Given the description of an element on the screen output the (x, y) to click on. 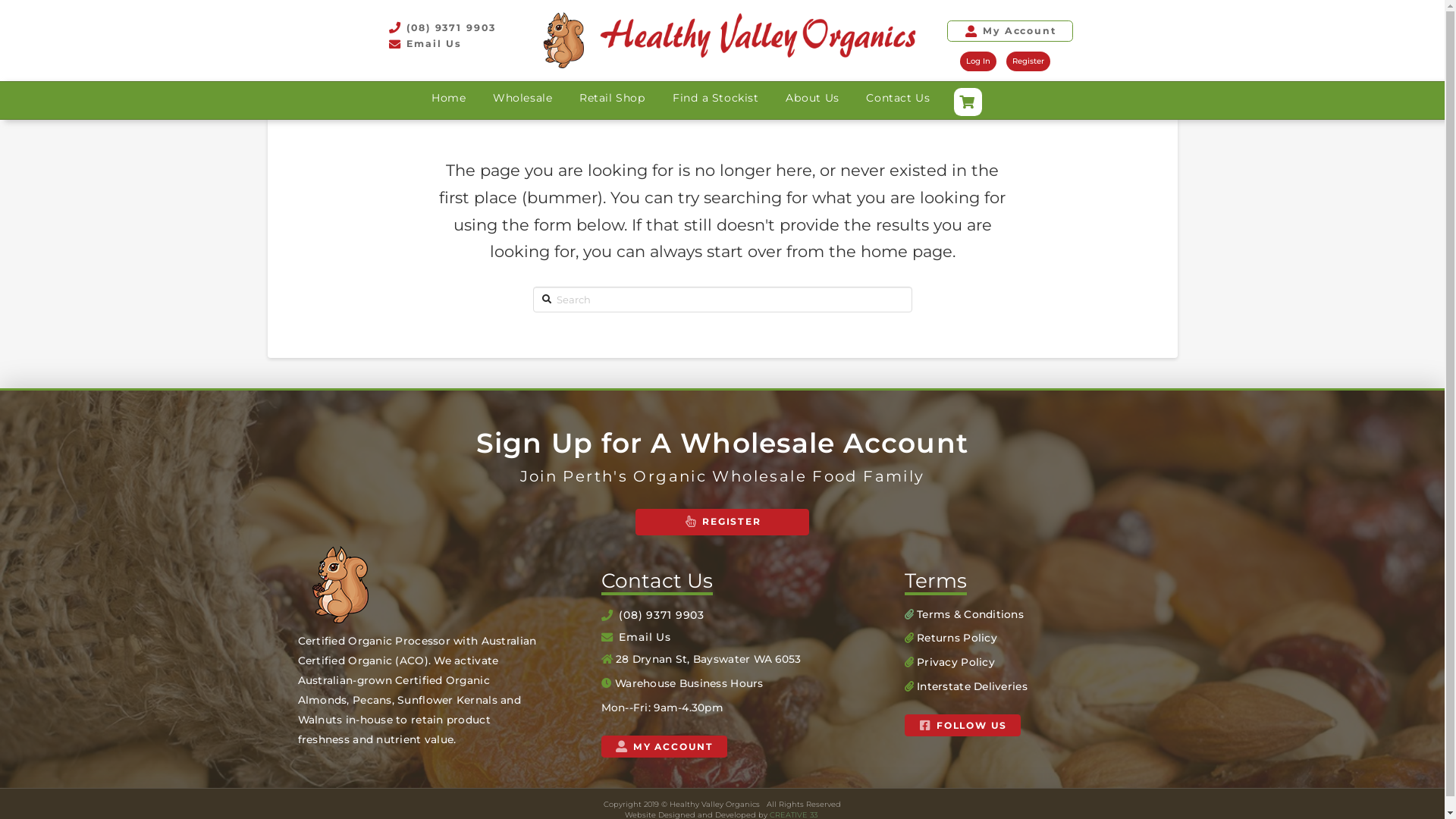
FOLLOW US Element type: text (961, 725)
Interstate Deliveries Element type: text (971, 686)
(08) 9371 9903 Element type: text (441, 28)
Retail Shop Element type: text (611, 98)
(08) 9371 9903 Element type: text (652, 614)
Terms & Conditions Element type: text (969, 614)
Log In Element type: text (978, 61)
Email Us Element type: text (441, 44)
Find a Stockist Element type: text (714, 98)
Email Us Element type: text (635, 636)
About Us Element type: text (811, 98)
Returns Policy Element type: text (956, 637)
Privacy Policy Element type: text (955, 661)
Wholesale Element type: text (522, 98)
Contact Us Element type: text (897, 98)
REGISTER Element type: text (722, 521)
Register Element type: text (1028, 61)
MY ACCOUNT Element type: text (663, 746)
Home Element type: text (448, 98)
My Account Element type: text (1010, 31)
